Given the description of an element on the screen output the (x, y) to click on. 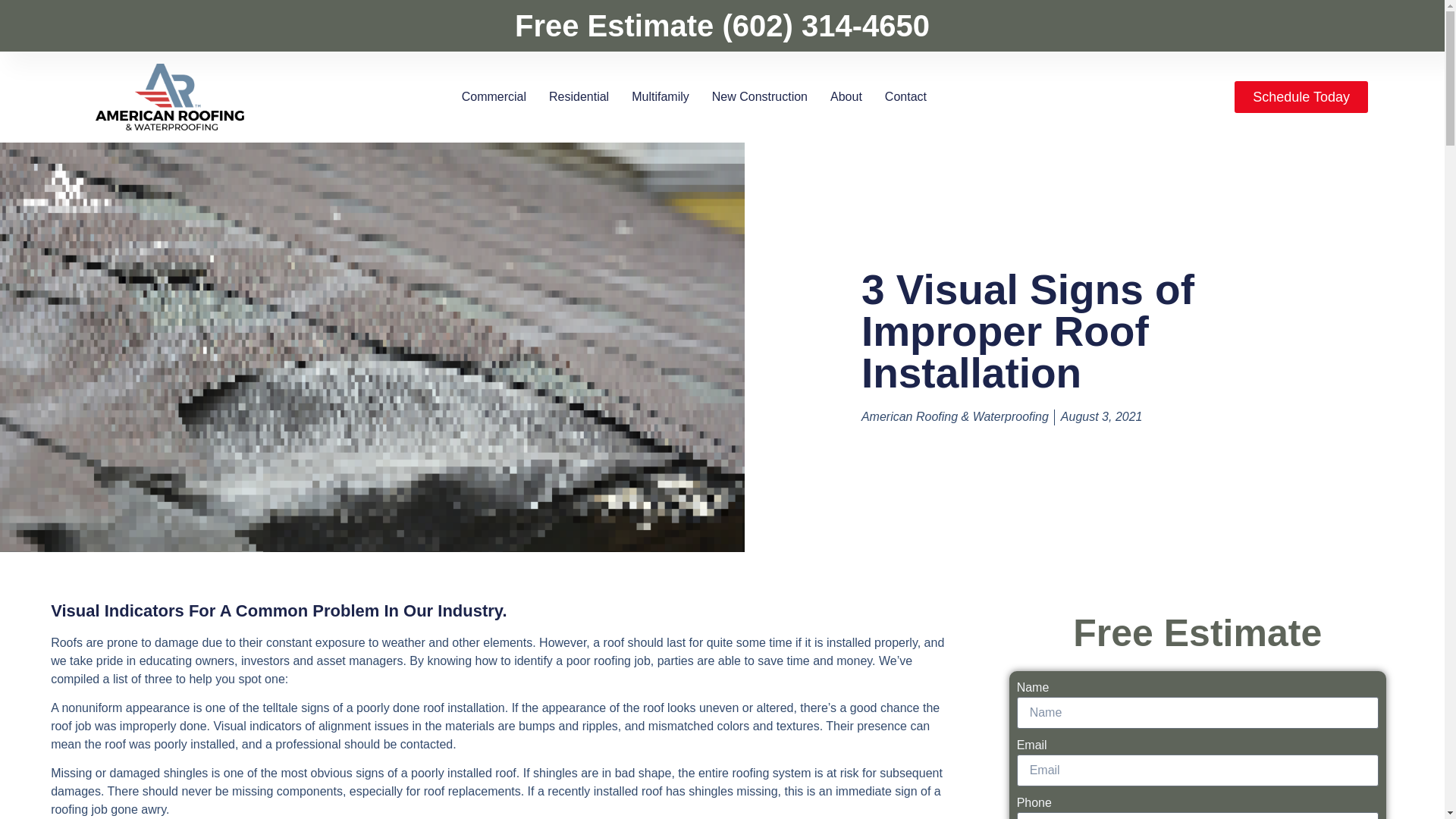
Contact (905, 96)
Multifamily (659, 96)
Commercial (493, 96)
New Construction (759, 96)
Residential (578, 96)
About (845, 96)
Schedule Today (1301, 97)
